Given the description of an element on the screen output the (x, y) to click on. 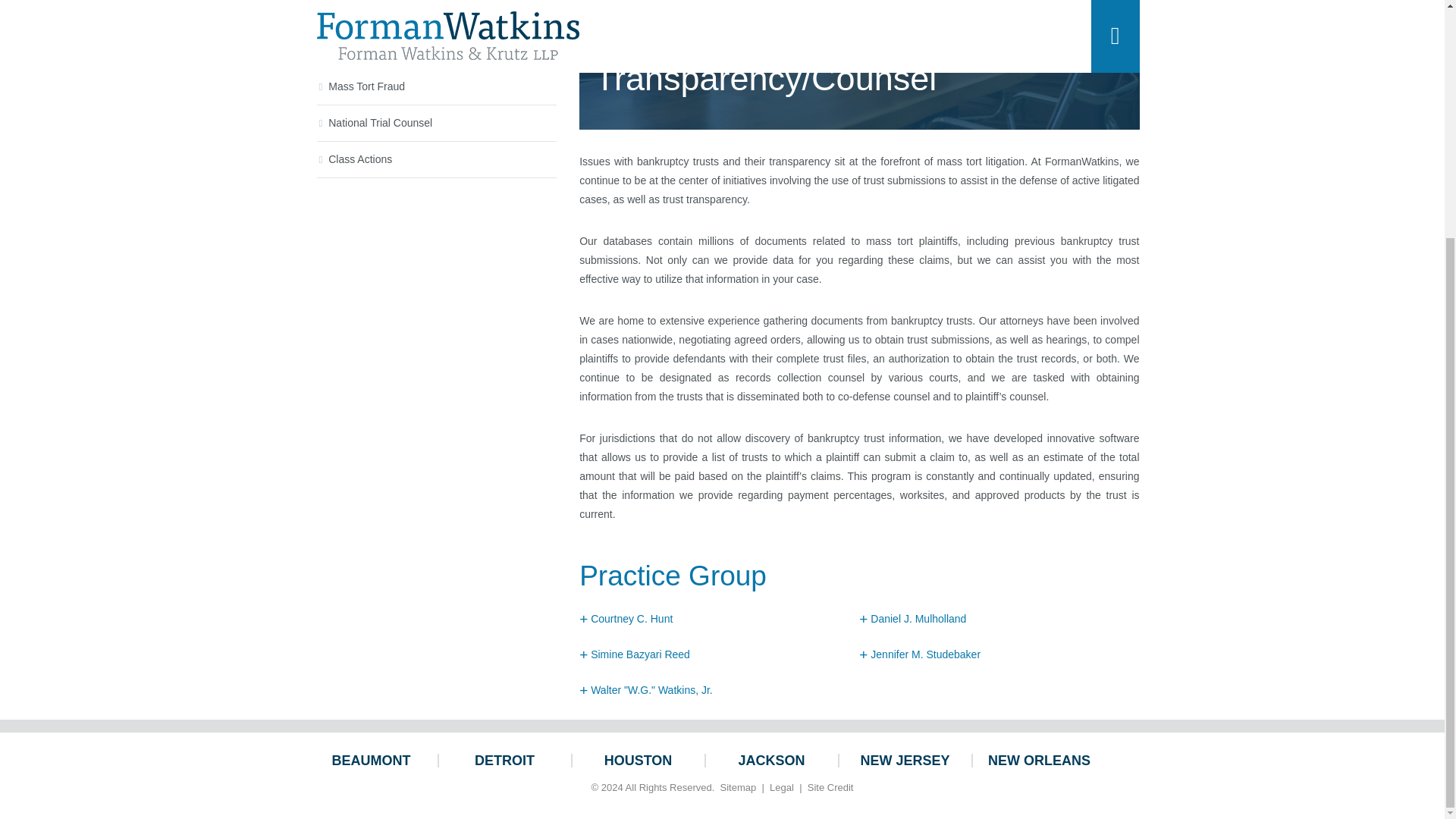
Courtney C. Hunt (631, 618)
Mass Tort Fraud (366, 86)
Jennifer M. Studebaker (924, 654)
Daniel J. Mulholland (918, 618)
Simine Bazyari Reed (640, 654)
Walter "W.G." Watkins, Jr. (652, 689)
National Coordinating Counsel (400, 13)
Class Actions (360, 159)
National Trial Counsel (380, 122)
